Given the description of an element on the screen output the (x, y) to click on. 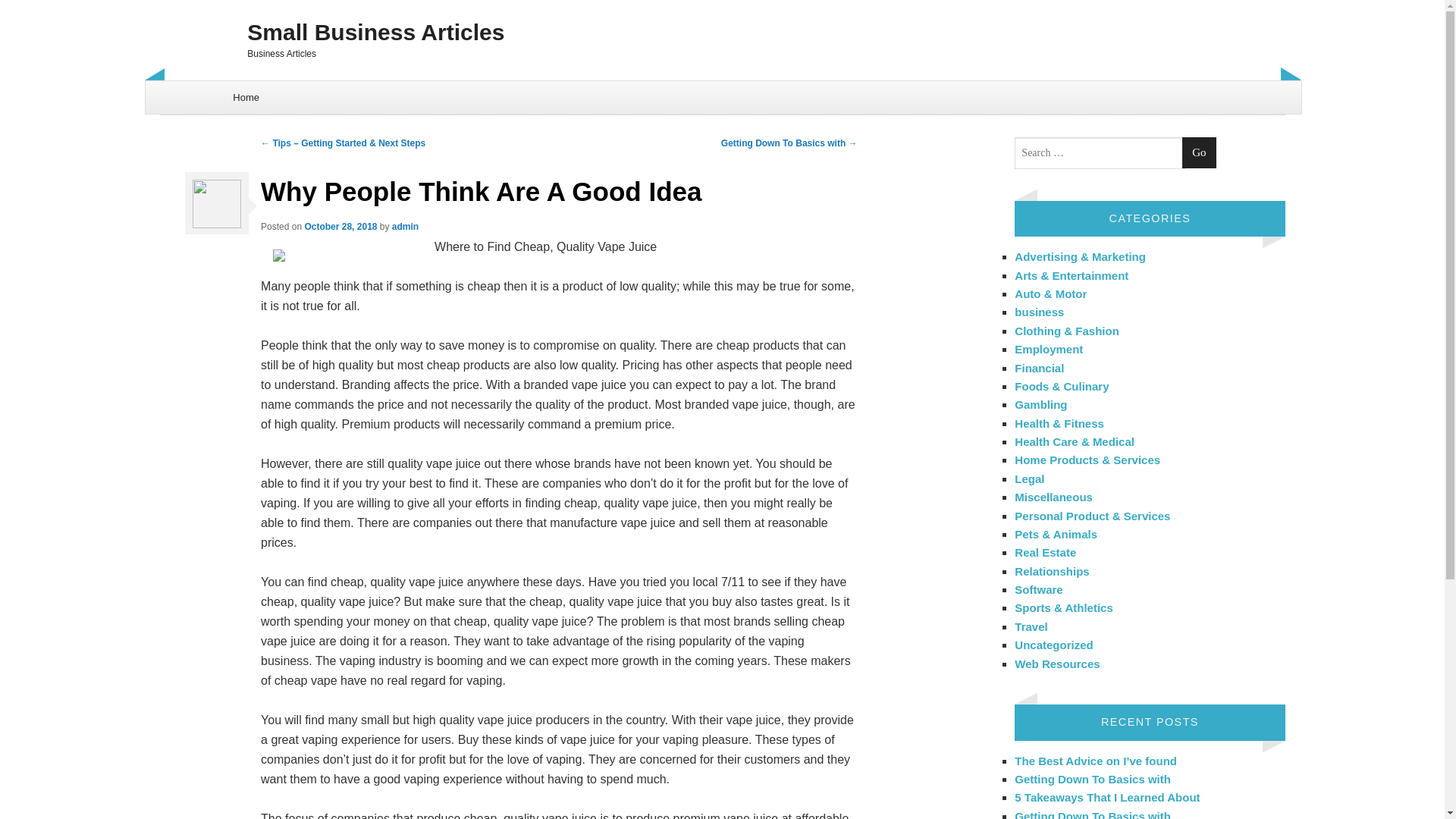
Go (1198, 152)
Real Estate (1044, 552)
1:29 pm (340, 226)
business (1039, 311)
admin (405, 226)
Go (1198, 152)
Financial (1039, 367)
Software (1038, 589)
View all posts by admin (405, 226)
Getting Down To Basics with (1092, 779)
Employment (1048, 349)
Uncategorized (1053, 644)
Relationships (1051, 571)
October 28, 2018 (340, 226)
Gambling (1040, 404)
